Given the description of an element on the screen output the (x, y) to click on. 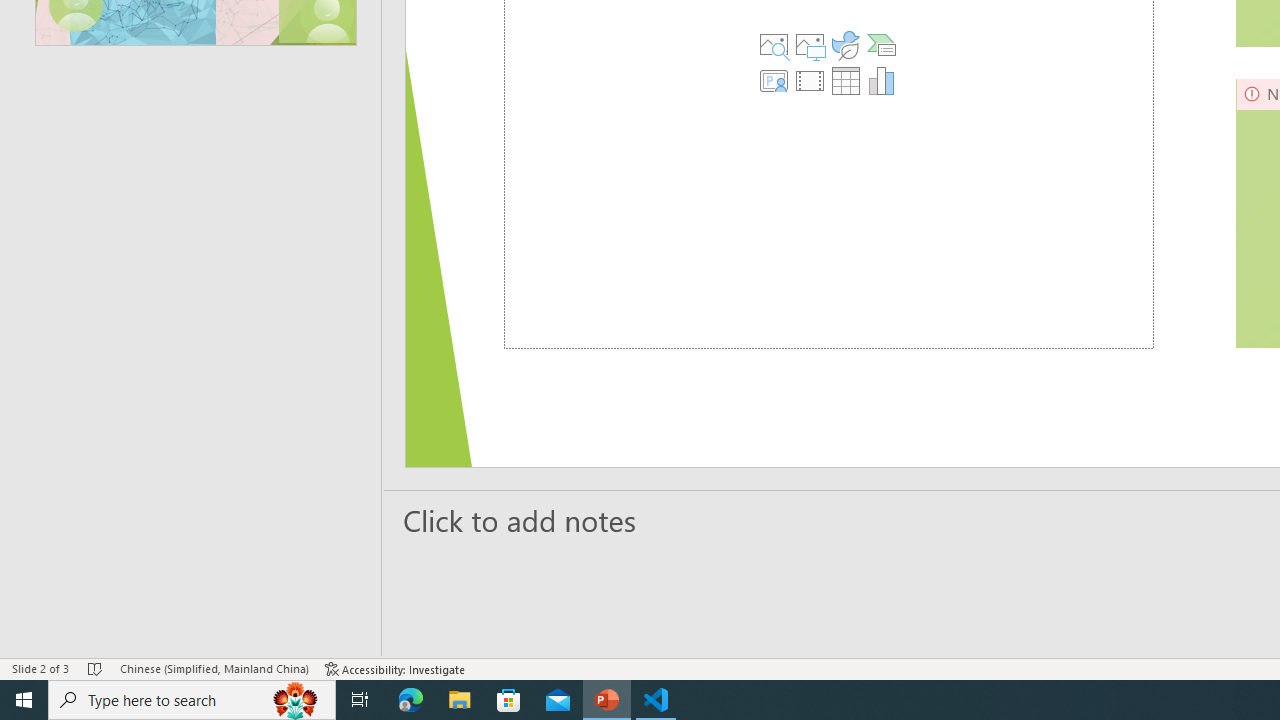
Pictures (809, 44)
Insert Video (809, 80)
Insert Table (845, 80)
Insert Chart (882, 80)
Insert a SmartArt Graphic (882, 44)
Insert an Icon (845, 44)
Stock Images (773, 44)
Insert Cameo (773, 80)
